Given the description of an element on the screen output the (x, y) to click on. 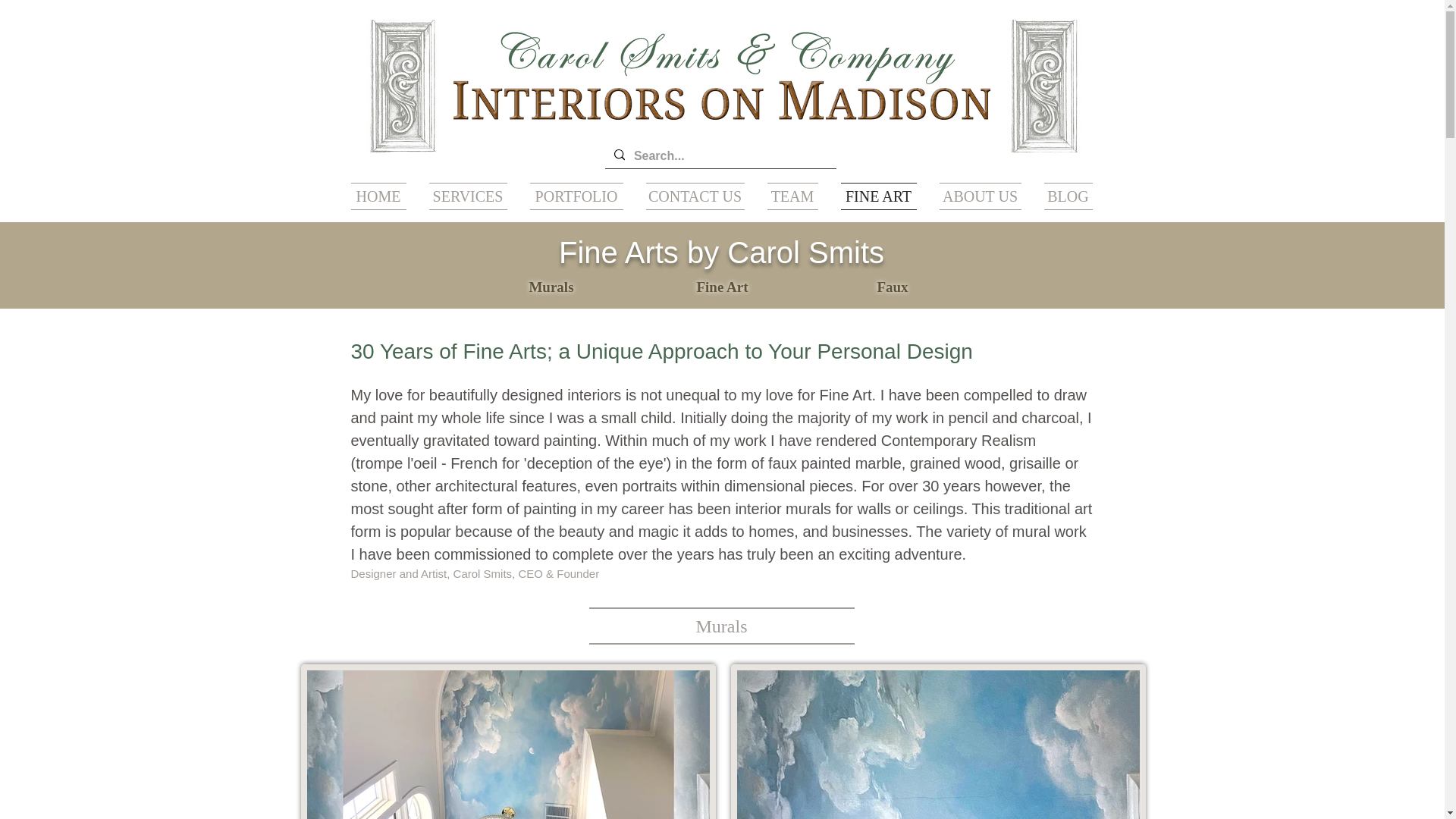
Murals (550, 286)
Fine Art (721, 286)
Faux (891, 286)
PORTFOLIO (576, 195)
SERVICES (467, 195)
HOME (383, 195)
TEAM (791, 195)
FINE ART (878, 195)
BLOG (1062, 195)
CONTACT US (694, 195)
